Given the description of an element on the screen output the (x, y) to click on. 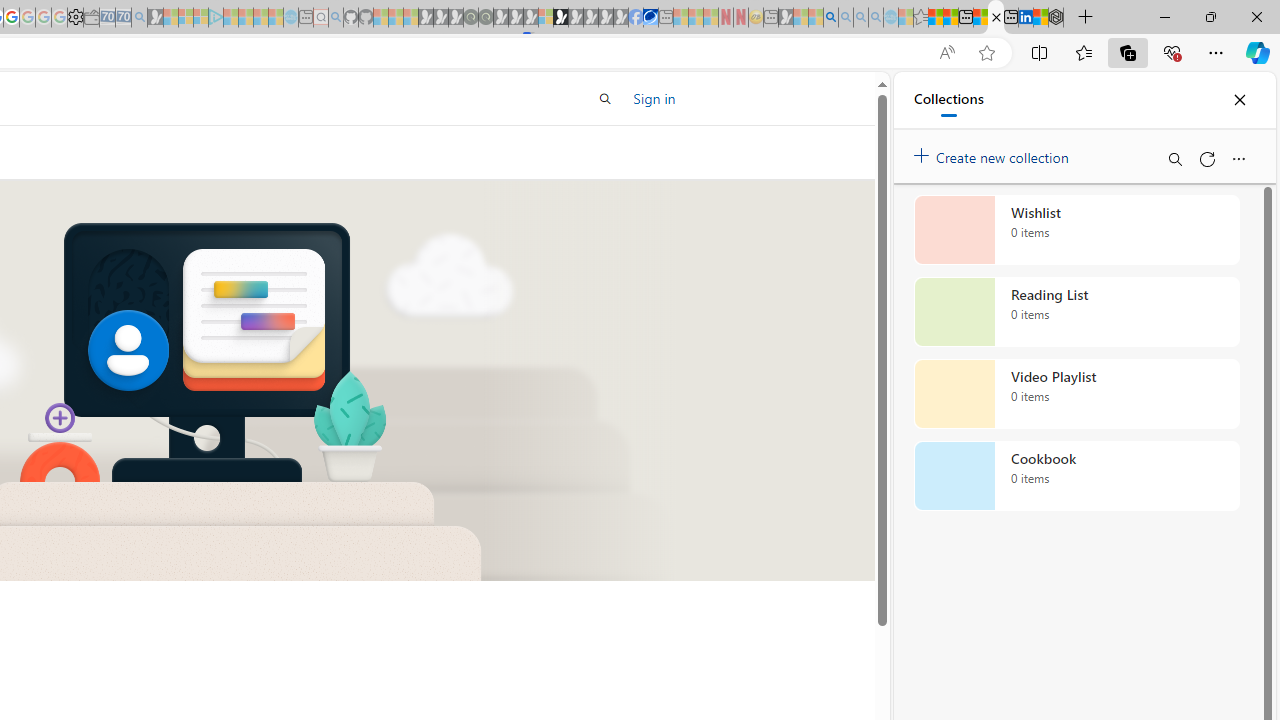
Bing AI - Search (831, 17)
Video Playlist collection, 0 items (1076, 394)
Reading List collection, 0 items (1076, 312)
Open search (604, 97)
